Given the description of an element on the screen output the (x, y) to click on. 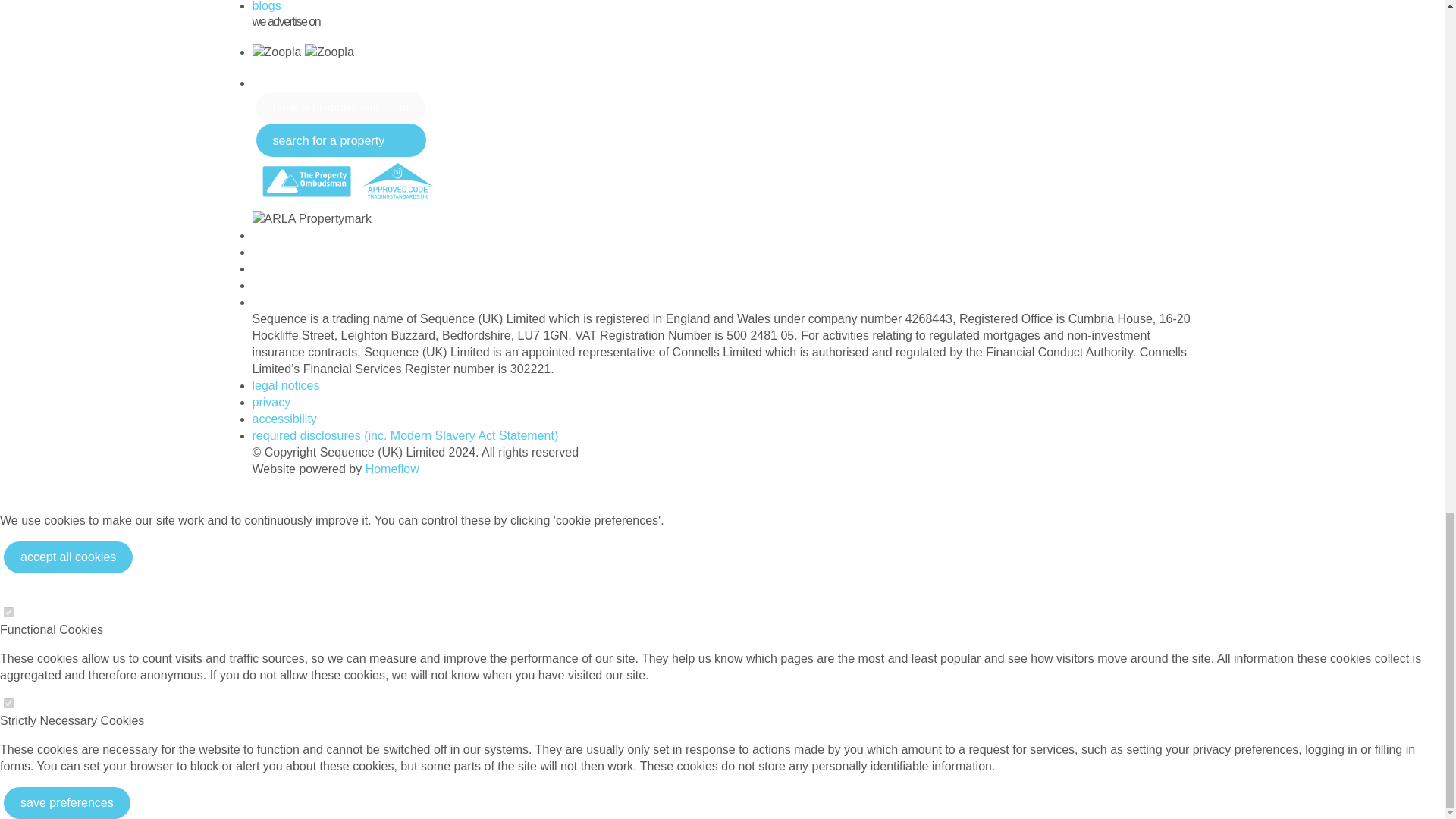
Privacy (270, 401)
Required disclosures (404, 435)
Legal Notices (284, 385)
on (8, 612)
on (8, 703)
Accessibility (283, 418)
